Given the description of an element on the screen output the (x, y) to click on. 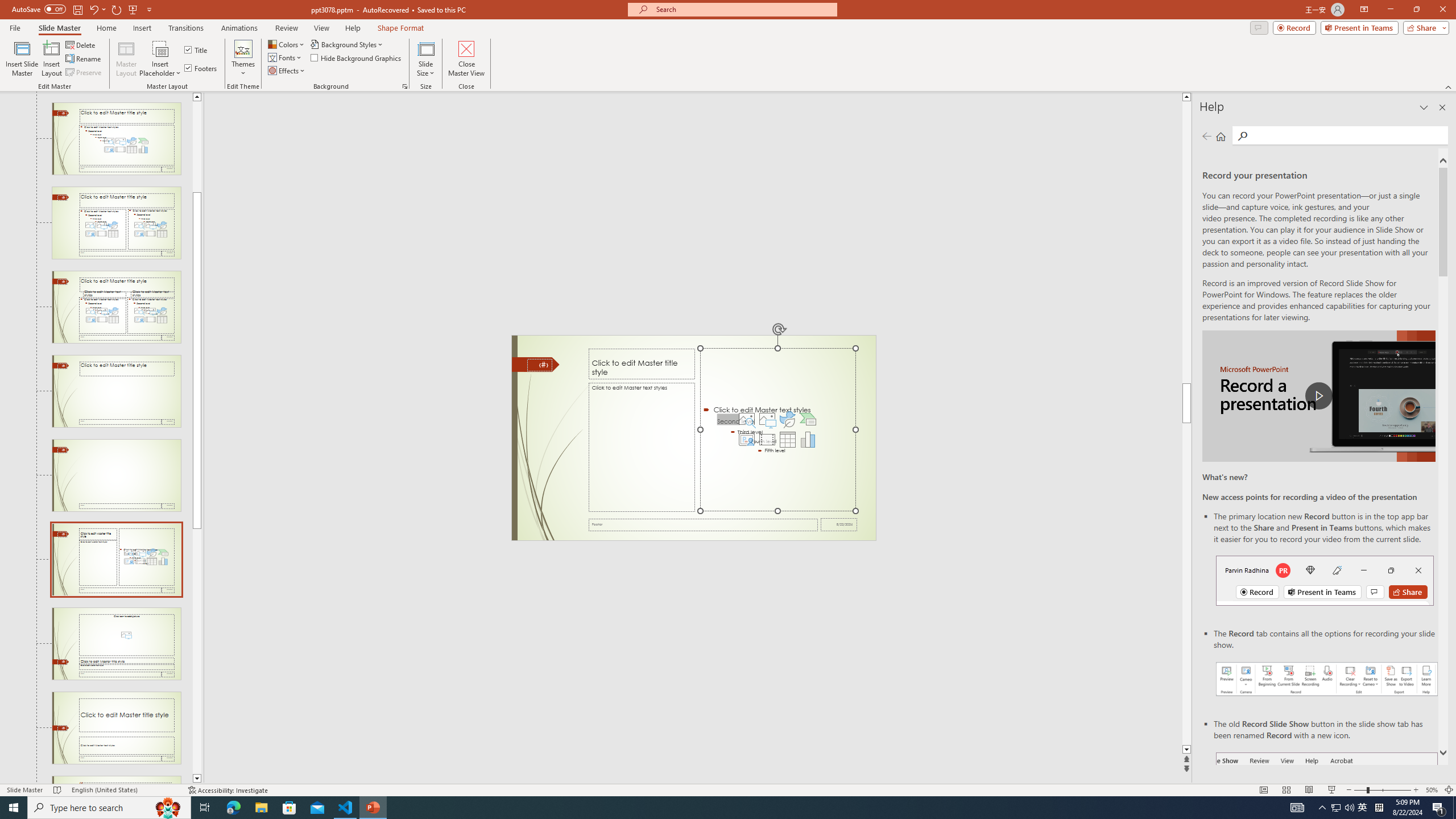
Footers (201, 67)
Slide Master (59, 28)
